Given the description of an element on the screen output the (x, y) to click on. 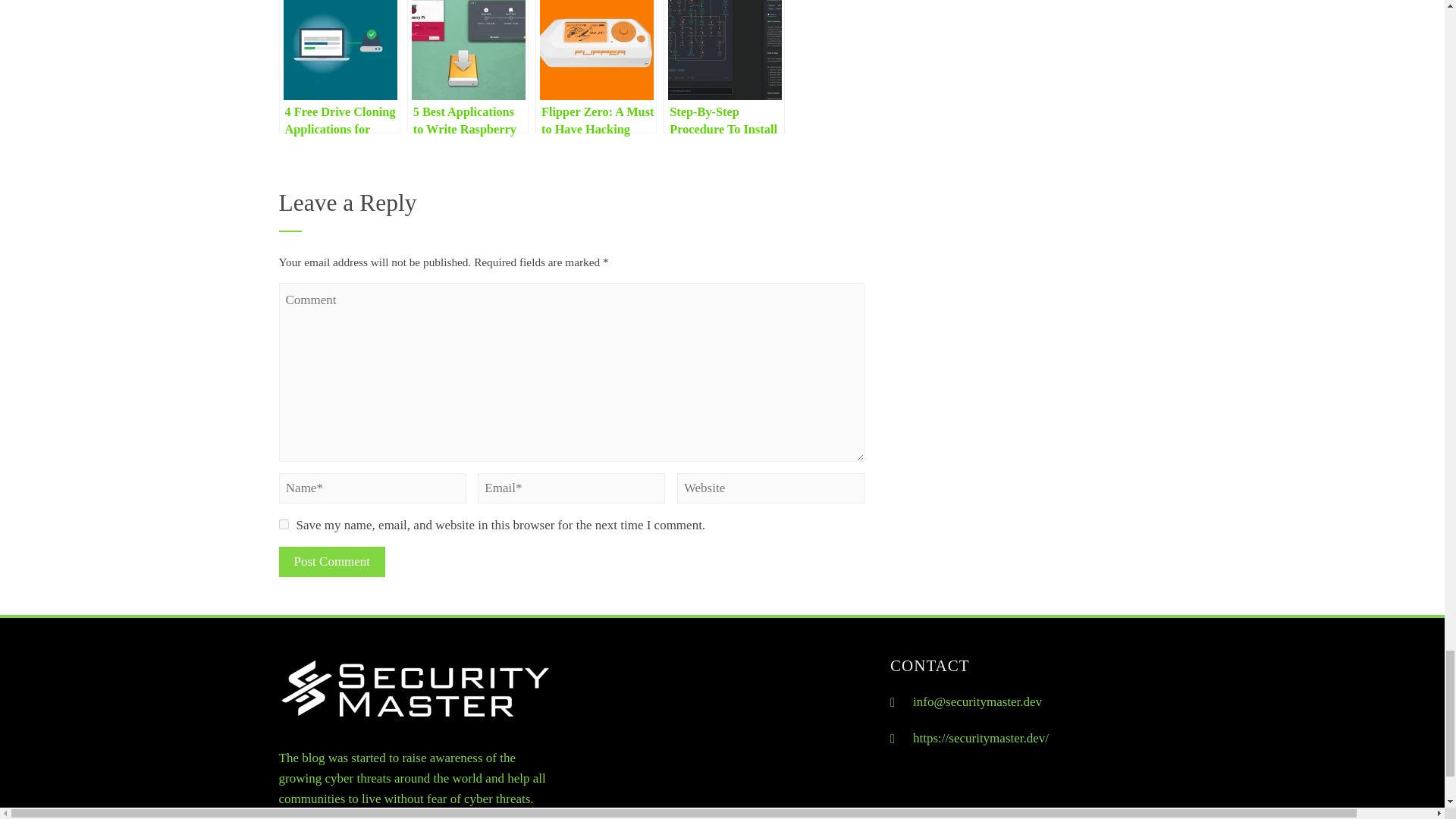
yes (283, 524)
4 Free Drive Cloning Applications for Windows and Linux (339, 66)
Post Comment (332, 562)
